Given the description of an element on the screen output the (x, y) to click on. 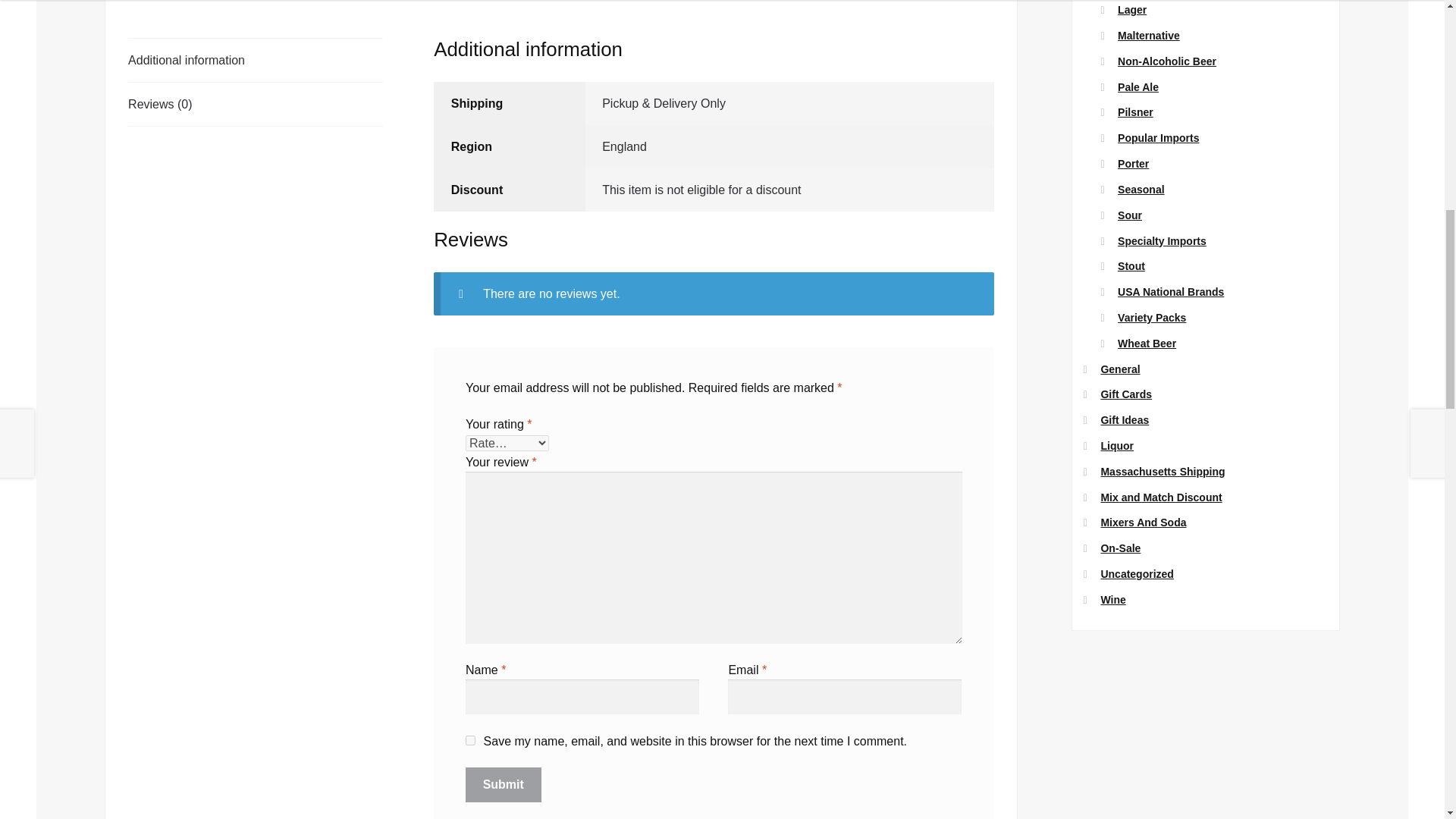
Submit (503, 784)
yes (470, 740)
